Given the description of an element on the screen output the (x, y) to click on. 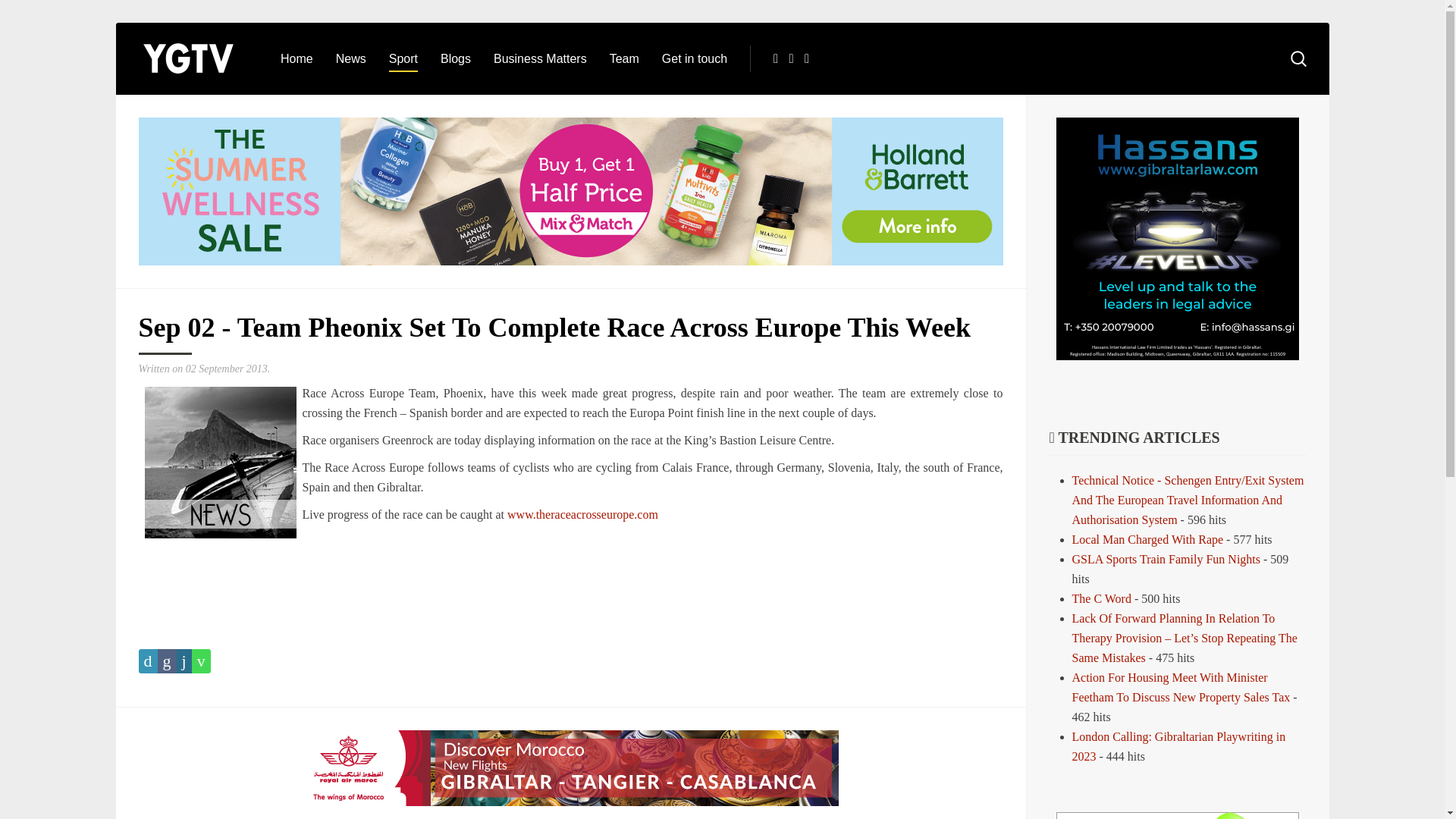
Get in touch (694, 58)
Local Man Charged With Rape (1149, 539)
The C Word (1101, 598)
London Calling: Gibraltarian Playwriting in 2023 (1178, 746)
Business Matters (539, 58)
www.theraceacrosseurope.com (582, 513)
GSLA Sports Train Family Fun Nights (1165, 558)
